Given the description of an element on the screen output the (x, y) to click on. 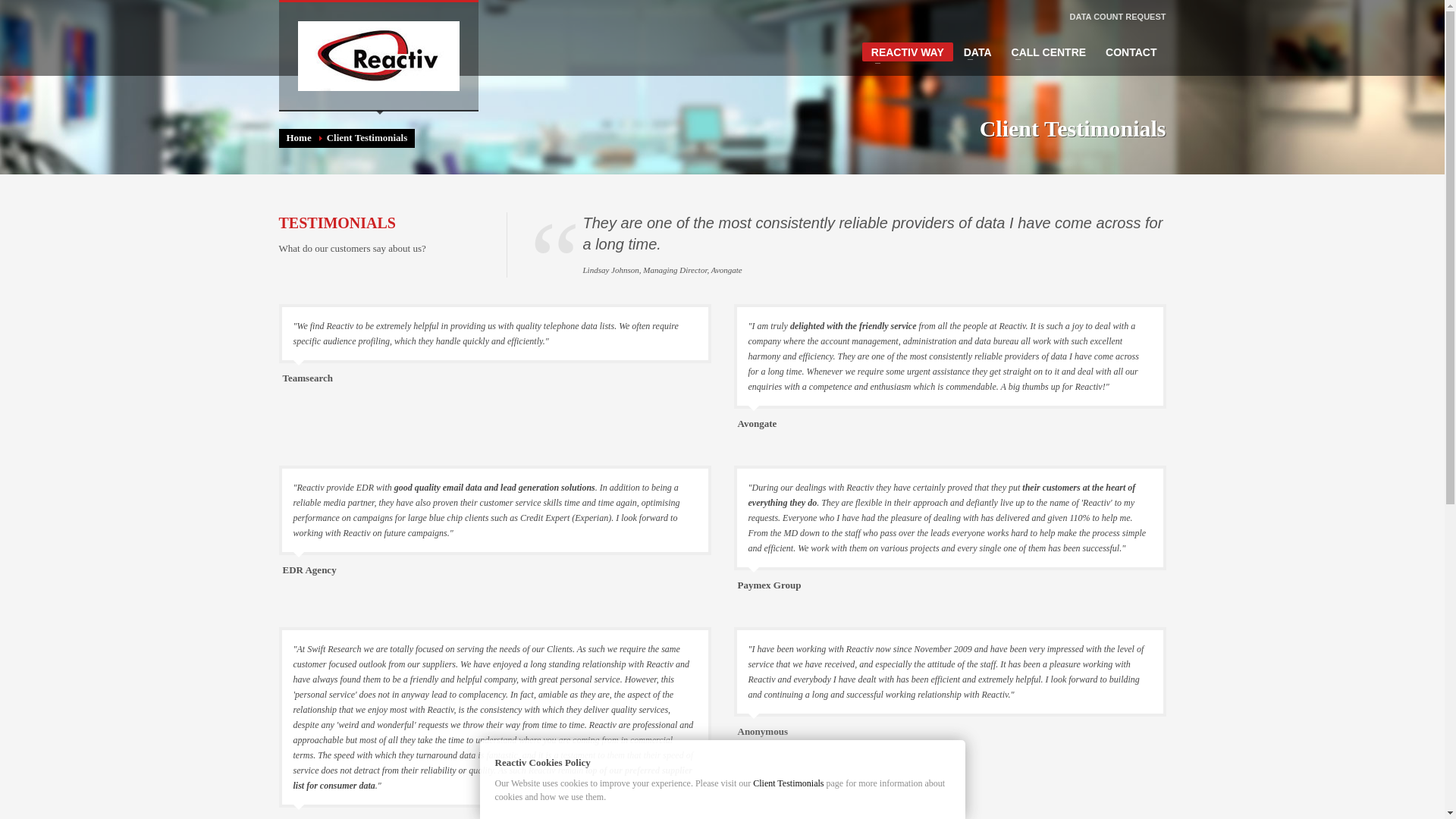
Home (298, 137)
CONTACT (1131, 51)
DATA COUNT REQUEST (1118, 16)
Reactiv (377, 55)
